Given the description of an element on the screen output the (x, y) to click on. 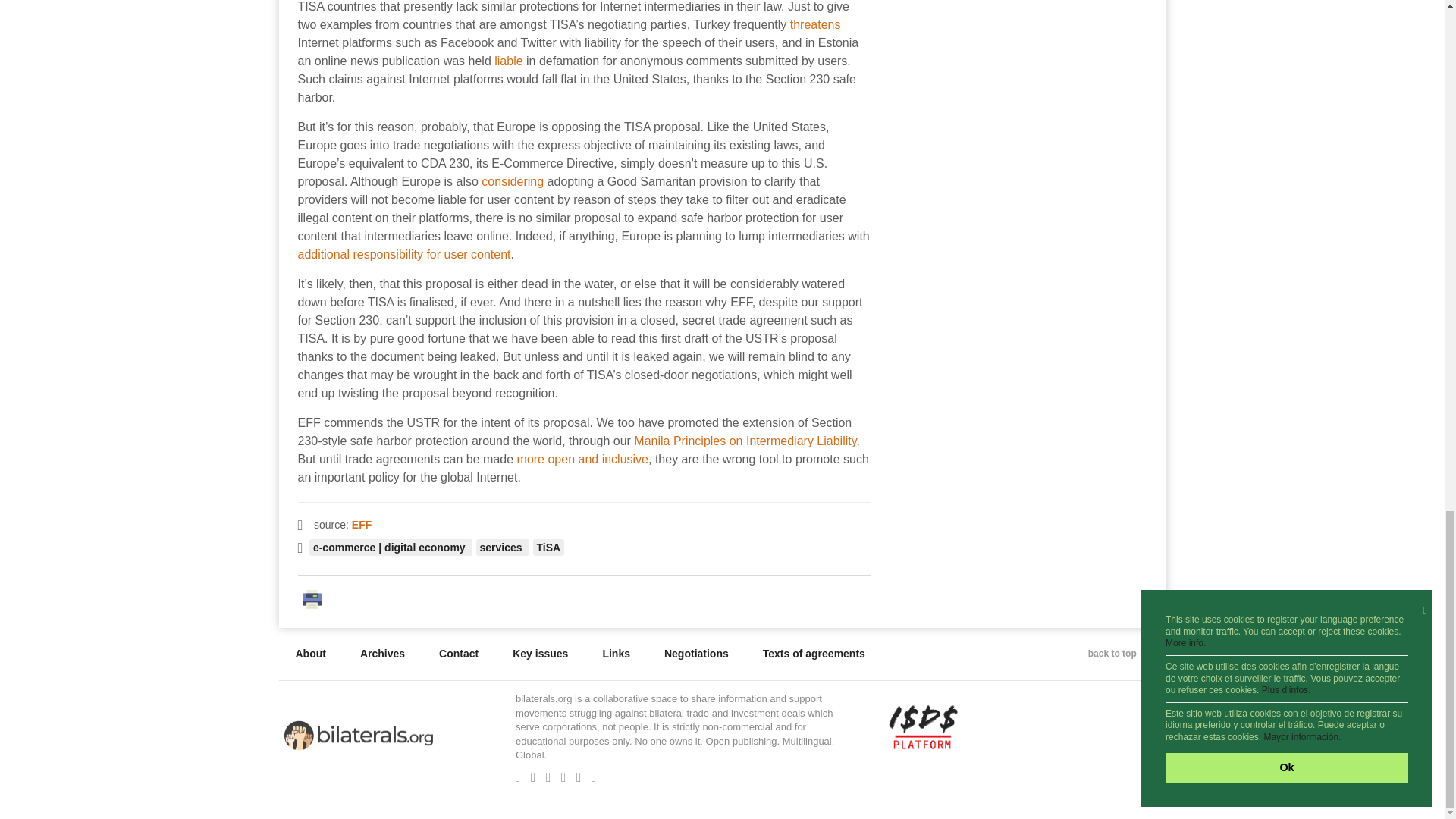
Instagram (548, 777)
print (315, 598)
Facebook (517, 777)
back to top (1118, 653)
Negotiations (696, 653)
About (310, 653)
Links (615, 653)
Archives (382, 653)
Twitter (533, 777)
Soundcloud (563, 777)
Contact (458, 653)
YouTube (582, 776)
Key issues (540, 653)
RSS (593, 777)
Texts of agreements (813, 653)
